Given the description of an element on the screen output the (x, y) to click on. 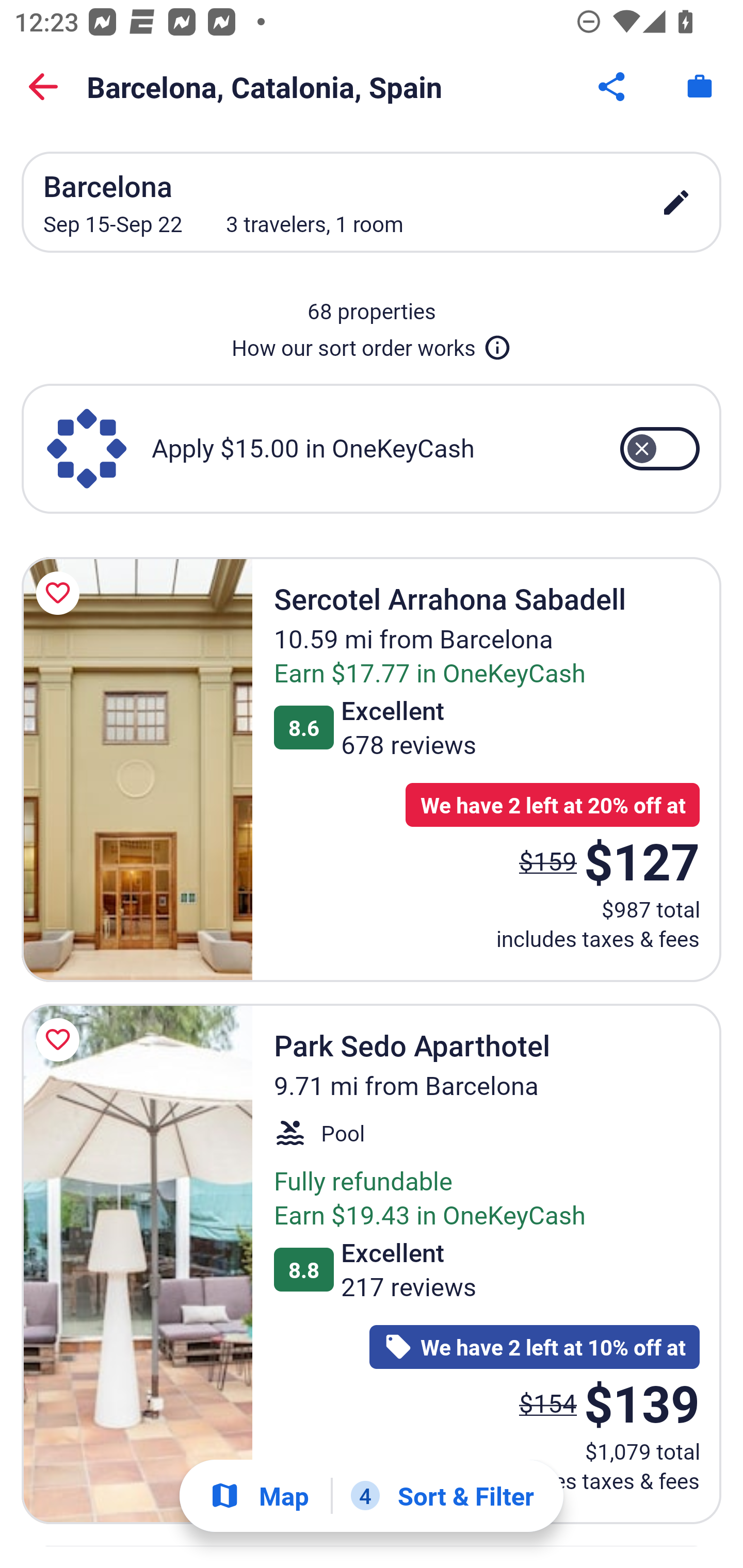
Back (43, 86)
Share Button (612, 86)
Trips. Button (699, 86)
Barcelona Sep 15-Sep 22 3 travelers, 1 room edit (371, 202)
How our sort order works (371, 344)
Save Sercotel Arrahona Sabadell to a trip (61, 593)
Sercotel Arrahona Sabadell (136, 768)
$159 The price was $159 (547, 860)
Save Park Sedo Aparthotel to a trip (61, 1040)
Park Sedo Aparthotel (136, 1263)
$154 The price was $154 (547, 1402)
4 Sort & Filter 4 Filters applied. Filters Button (442, 1495)
Show map Map Show map Button (258, 1495)
